Given the description of an element on the screen output the (x, y) to click on. 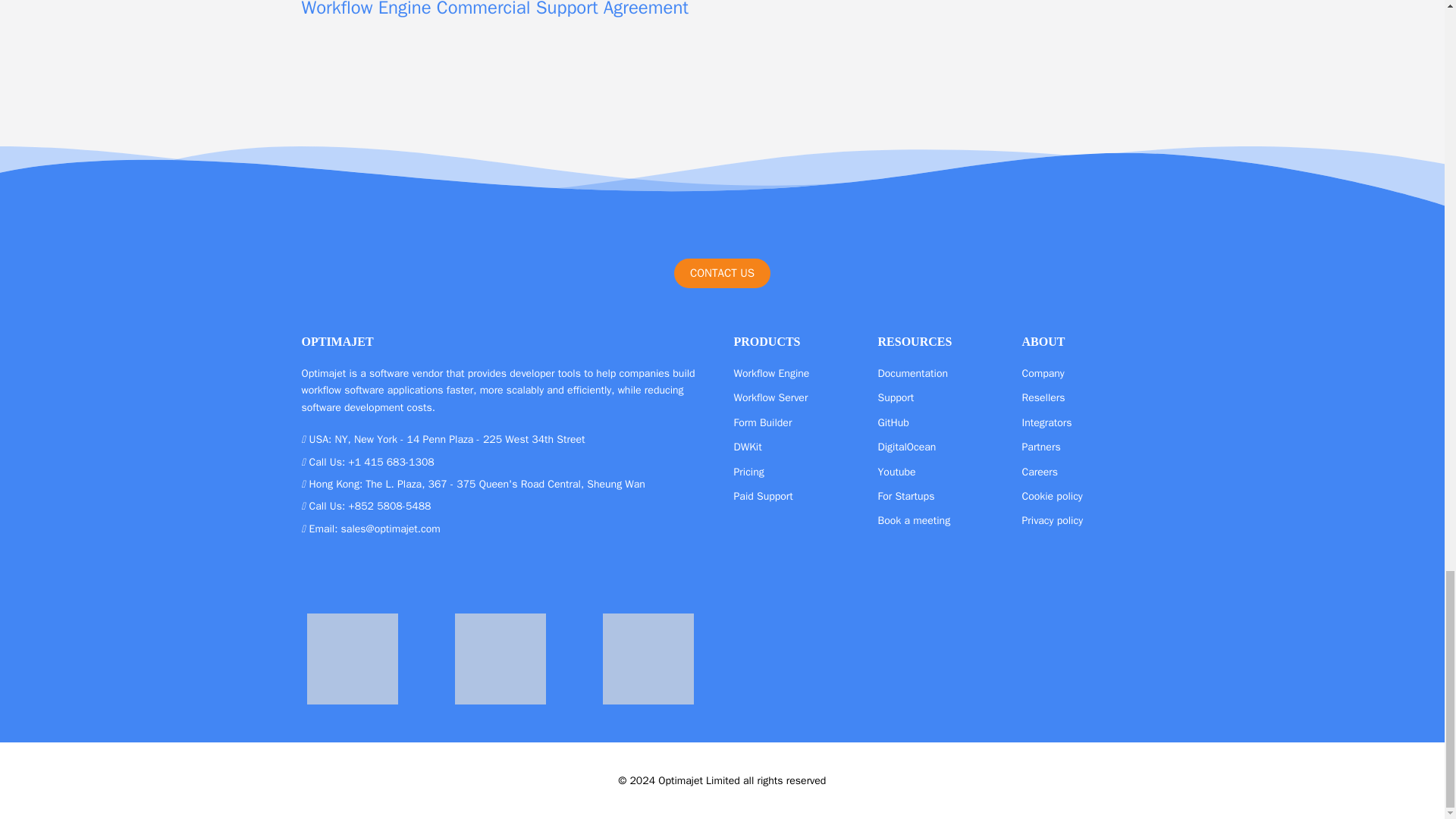
Book a meeting (913, 520)
DWKit (747, 446)
Support (895, 397)
Pricing (748, 472)
Youtube (896, 472)
Partners (1041, 446)
Company (1043, 373)
Documentation (913, 373)
Paid Support (763, 495)
Careers (1040, 472)
Resellers (1043, 397)
For Startups (905, 495)
Form Builder (762, 422)
GitHub (892, 422)
Workflow Engine (771, 373)
